Given the description of an element on the screen output the (x, y) to click on. 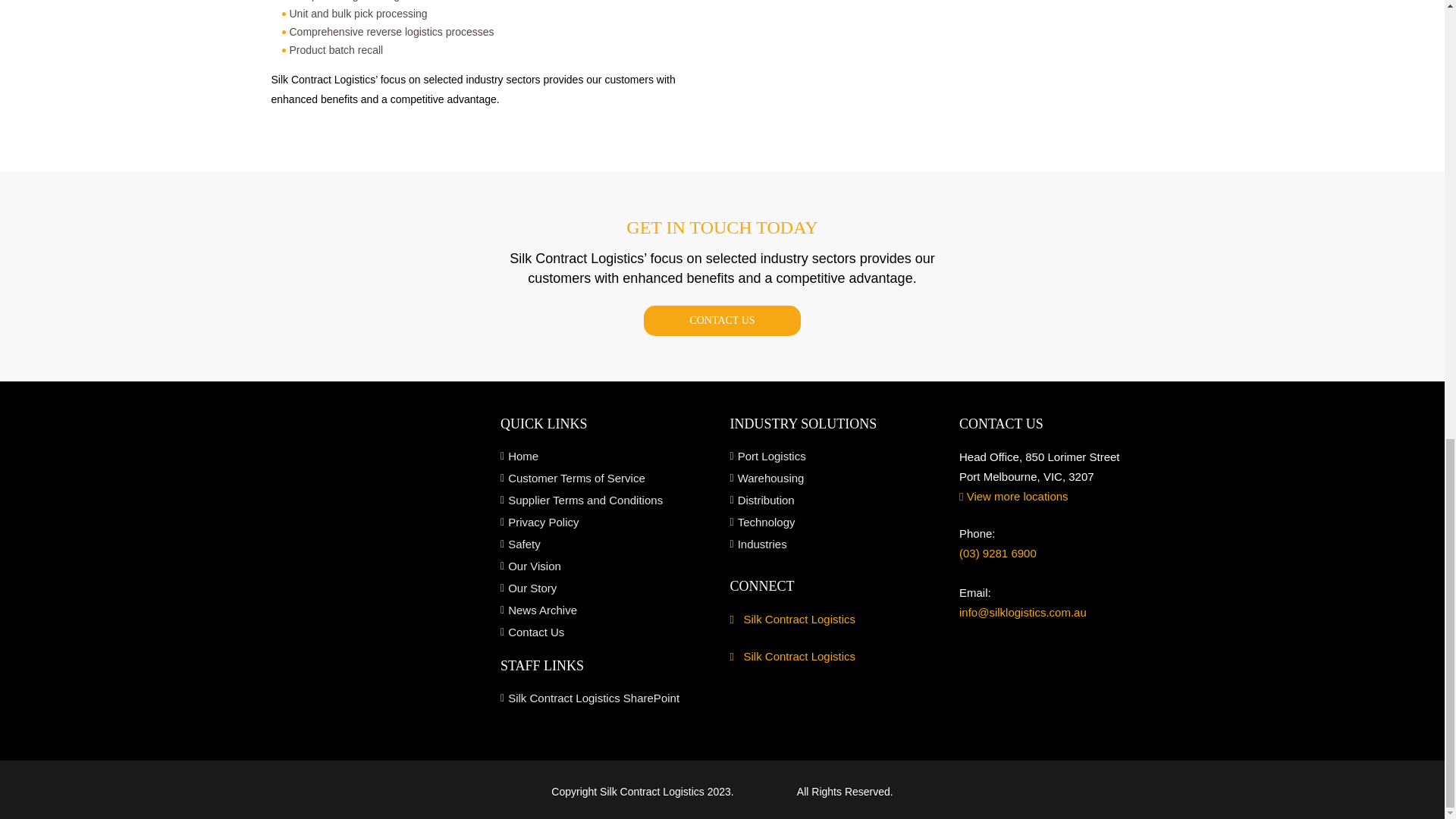
Supplier Terms and Conditions (607, 500)
Customer Terms of Service (607, 478)
Home (607, 456)
CONTACT US (721, 320)
Privacy Policy (607, 522)
Our Vision (607, 566)
Safety (607, 544)
